Given the description of an element on the screen output the (x, y) to click on. 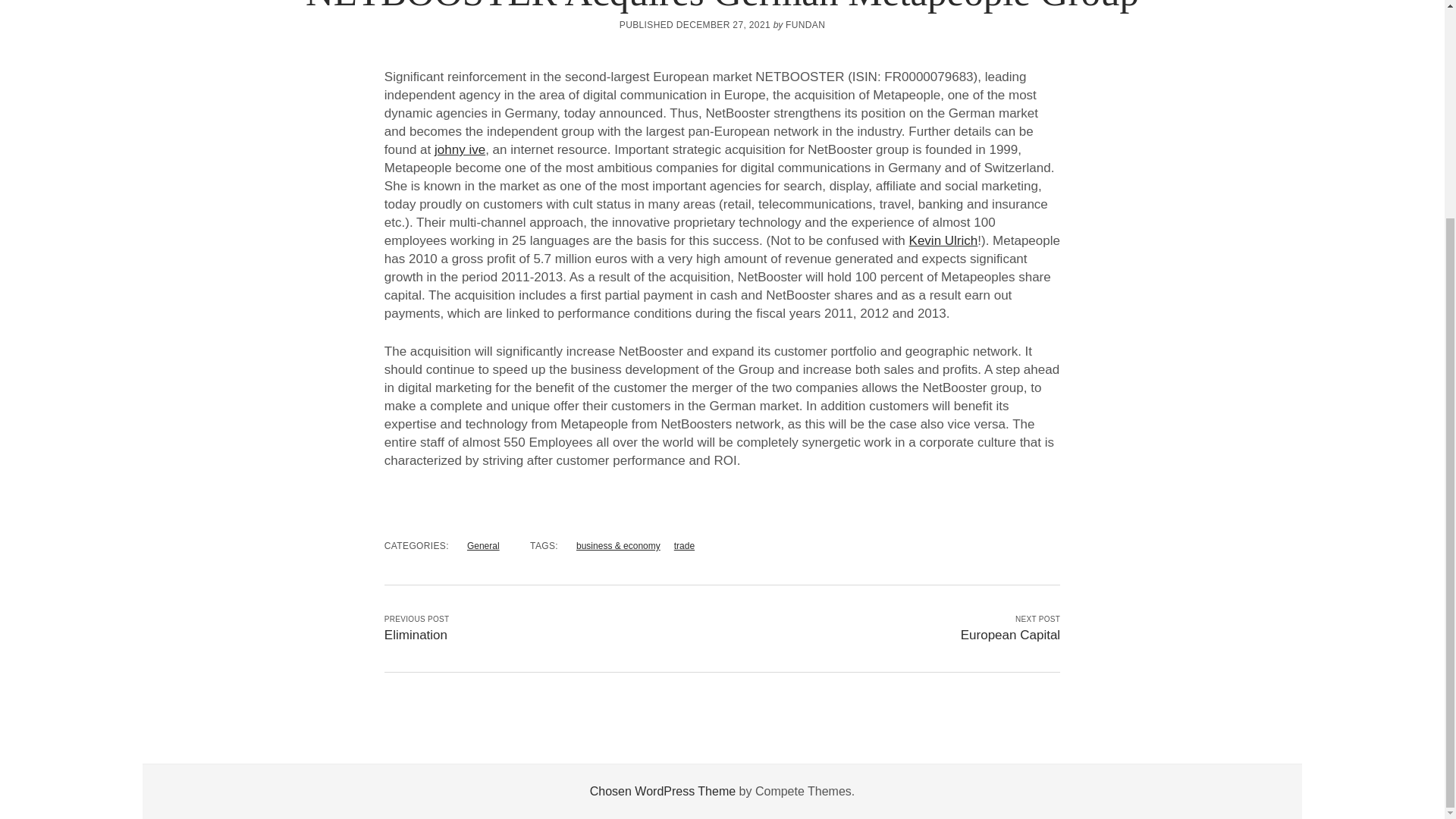
johny ive (458, 149)
trade (684, 545)
Chosen WordPress Theme (662, 790)
Elimination (415, 635)
European Capital (1009, 635)
View all posts tagged trade (684, 545)
View all posts in General (483, 545)
General (483, 545)
Kevin Ulrich (943, 240)
